Given the description of an element on the screen output the (x, y) to click on. 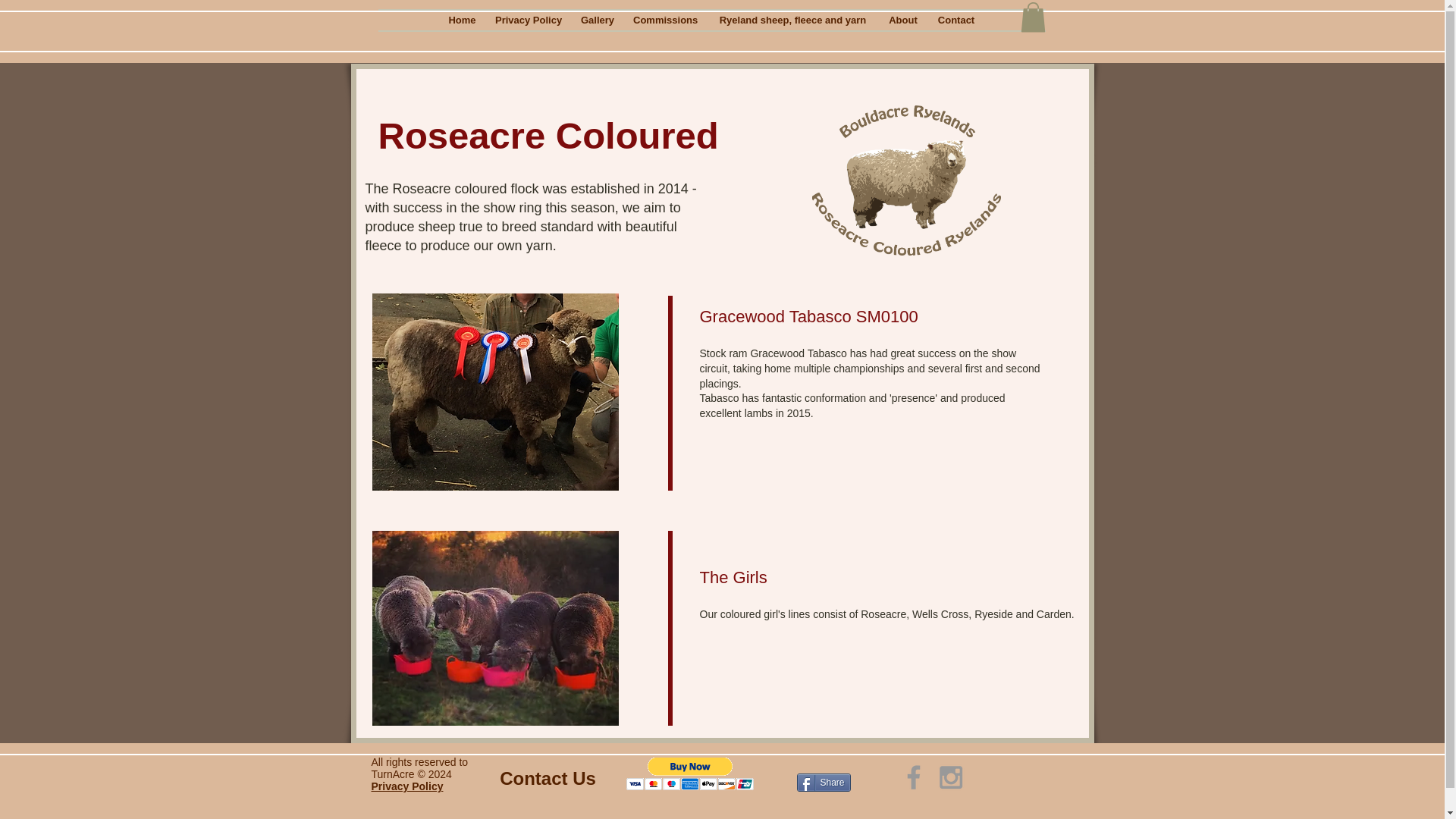
Share (823, 782)
Privacy Policy (407, 786)
Contact Us (547, 778)
tabasco (494, 391)
Privacy Policy (528, 20)
Commissions (665, 20)
Share (823, 782)
Roseacre girls (494, 627)
Contact (956, 20)
About (903, 20)
